Given the description of an element on the screen output the (x, y) to click on. 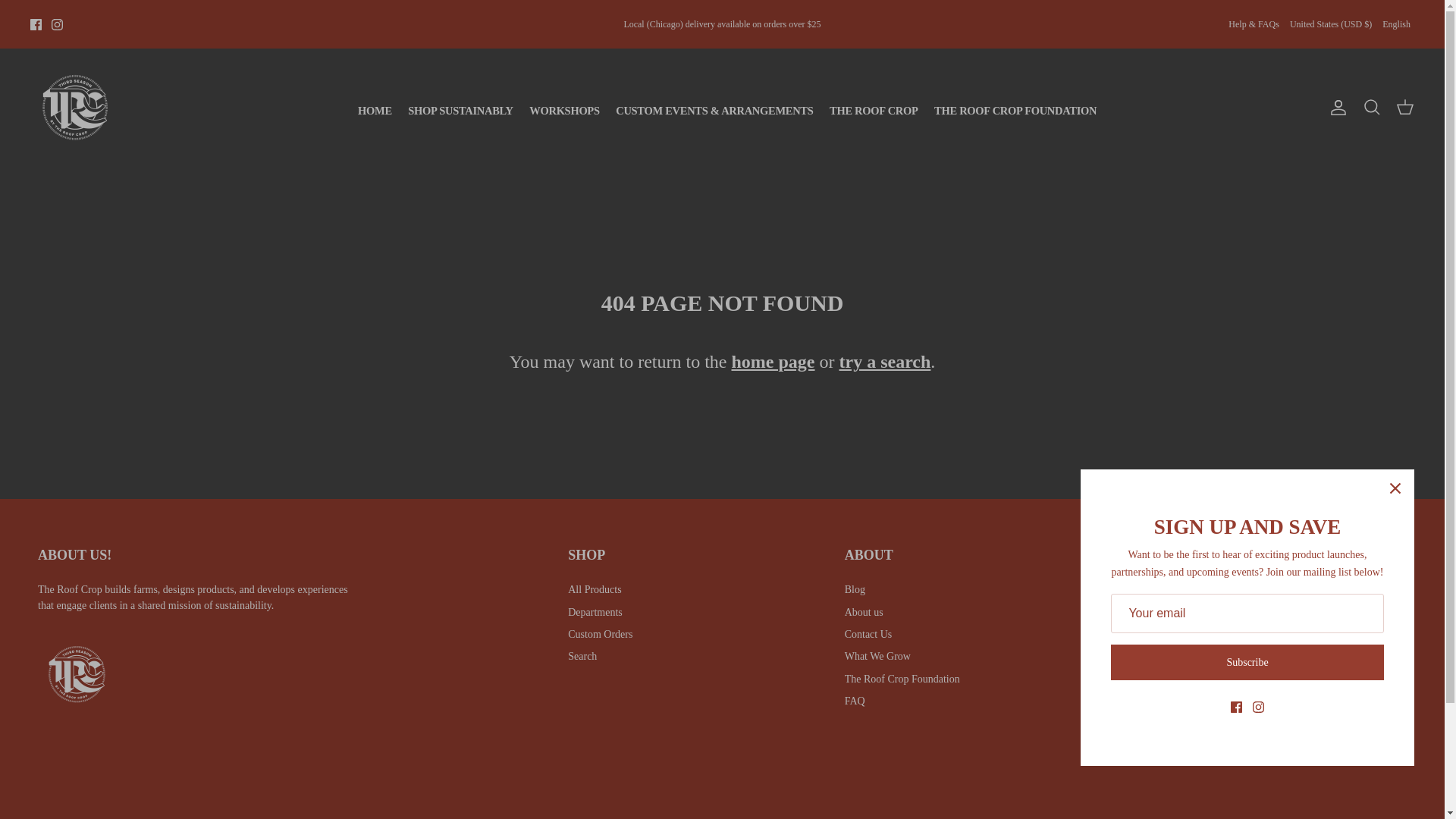
Account (1335, 107)
Instagram (56, 23)
Instagram (56, 23)
The Roof Crop (73, 106)
Facebook (36, 23)
Instagram (1203, 757)
English (1395, 23)
Search (1371, 107)
THE ROOF CROP FOUNDATION (1008, 106)
WORKSHOPS (556, 106)
